Given the description of an element on the screen output the (x, y) to click on. 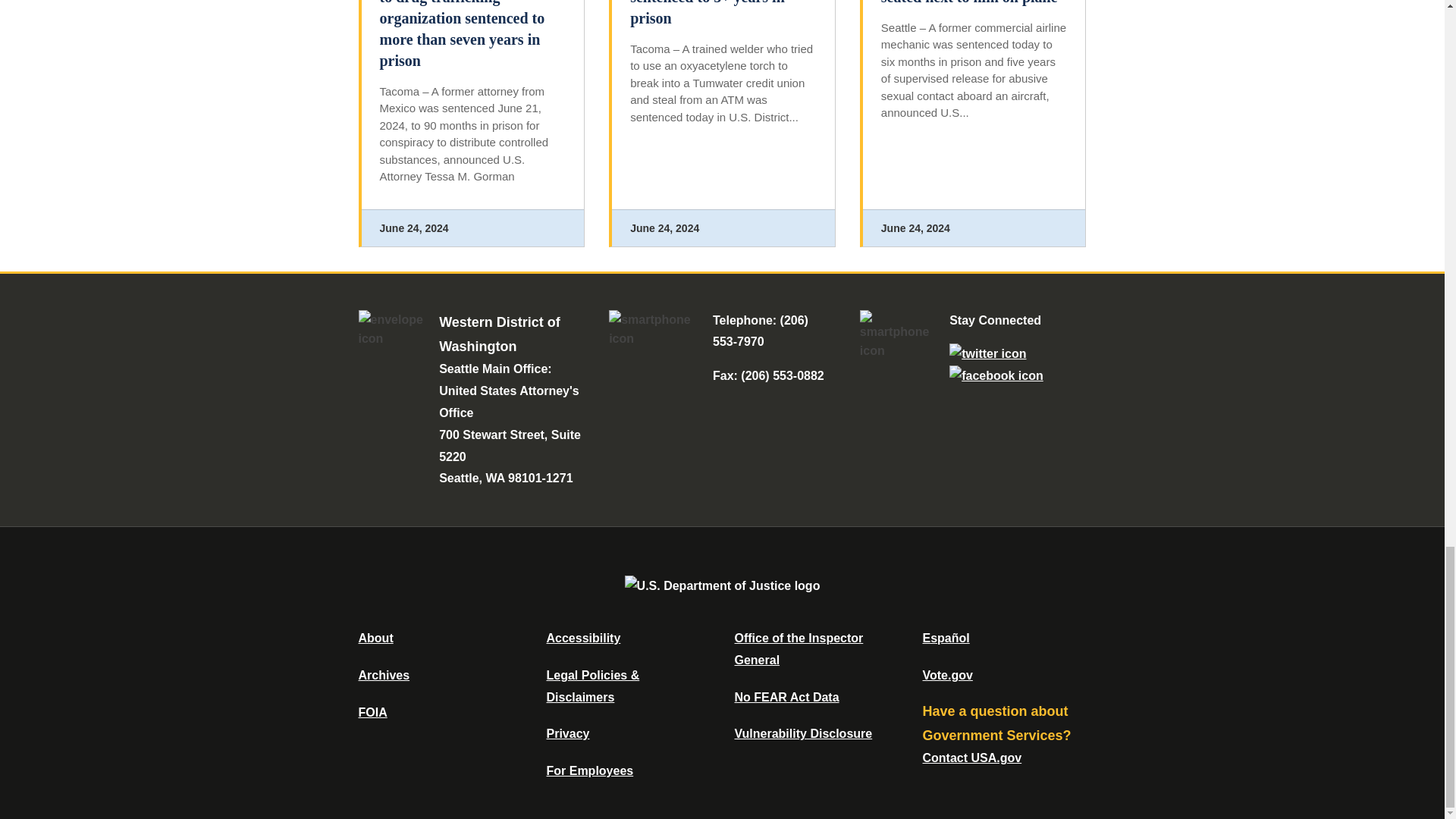
Data Posted Pursuant To The No Fear Act (785, 697)
Department of Justice Archive (383, 675)
About DOJ (375, 637)
Legal Policies and Disclaimers (592, 686)
Office of Information Policy (372, 712)
For Employees (589, 770)
Accessibility Statement (583, 637)
